Given the description of an element on the screen output the (x, y) to click on. 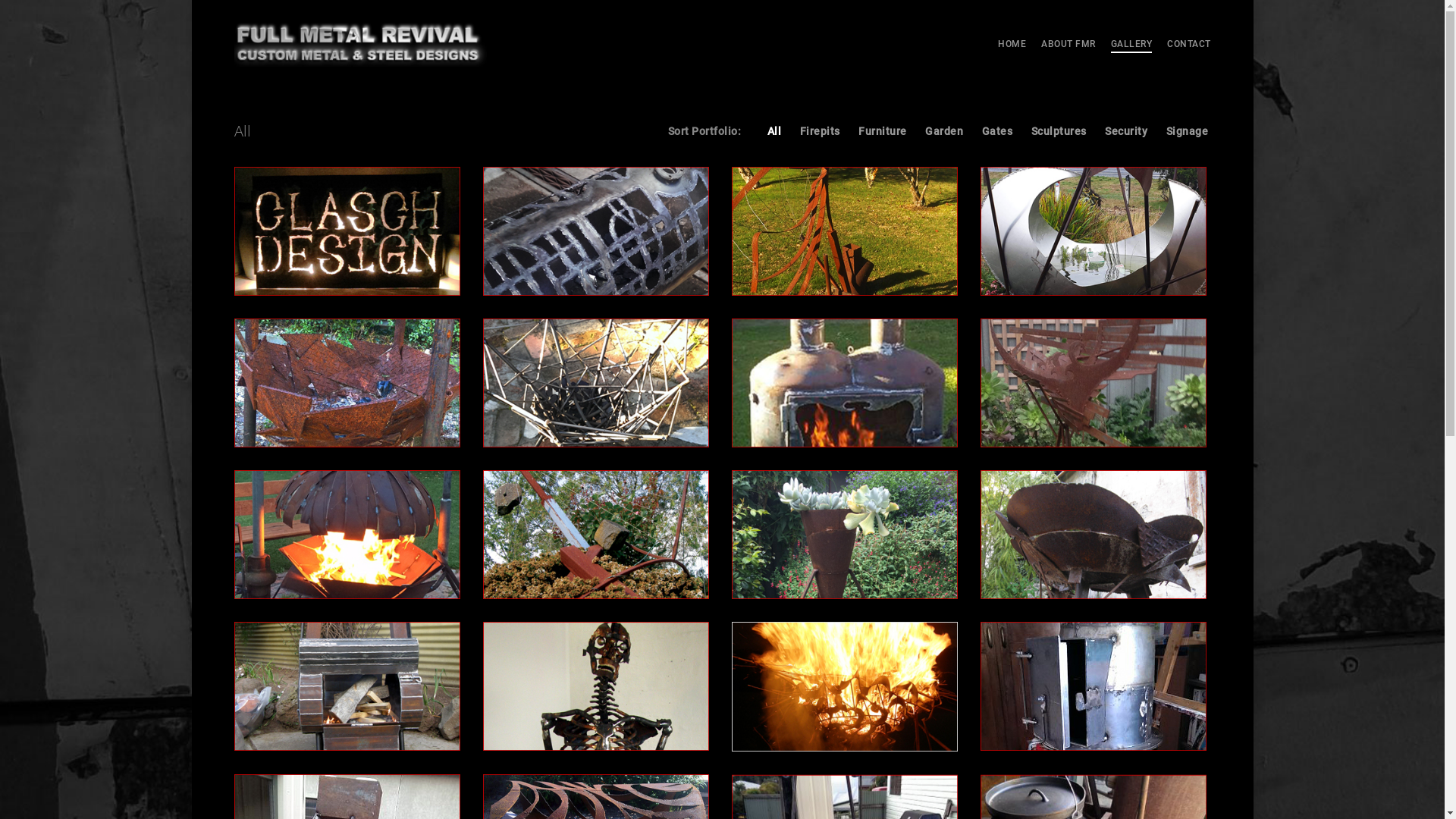
All Element type: text (774, 130)
Garden Element type: text (943, 130)
Sculptures Element type: text (1058, 130)
Gates Element type: text (997, 130)
GALLERY Element type: text (1130, 43)
Security Element type: text (1125, 130)
Signage Element type: text (1187, 130)
Furniture Element type: text (882, 130)
Firepits Element type: text (819, 130)
ABOUT FMR Element type: text (1068, 43)
CONTACT Element type: text (1189, 43)
HOME Element type: text (1011, 43)
